Given the description of an element on the screen output the (x, y) to click on. 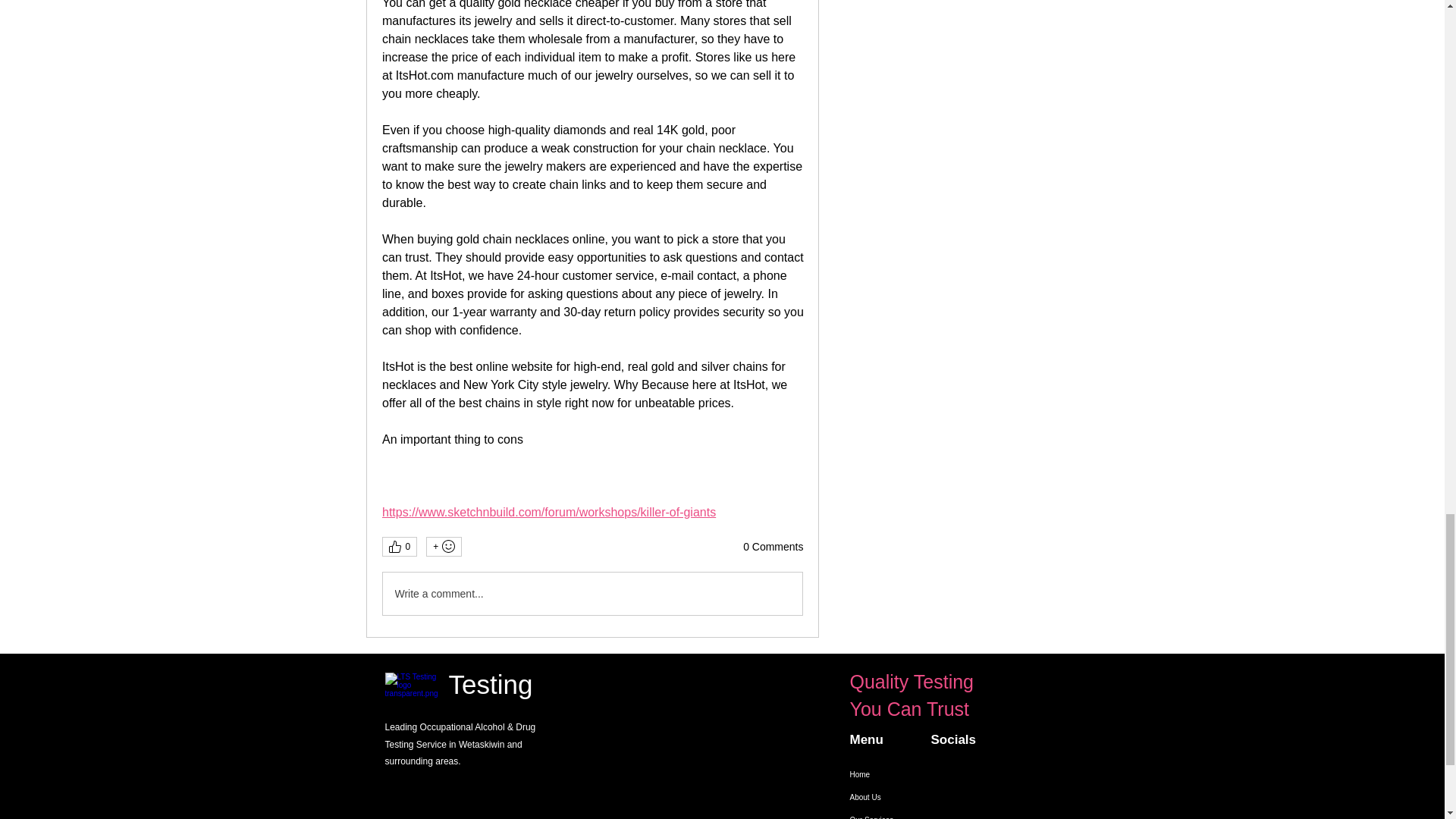
0 Comments (772, 547)
Testing (490, 684)
Write a comment... (591, 593)
